Given the description of an element on the screen output the (x, y) to click on. 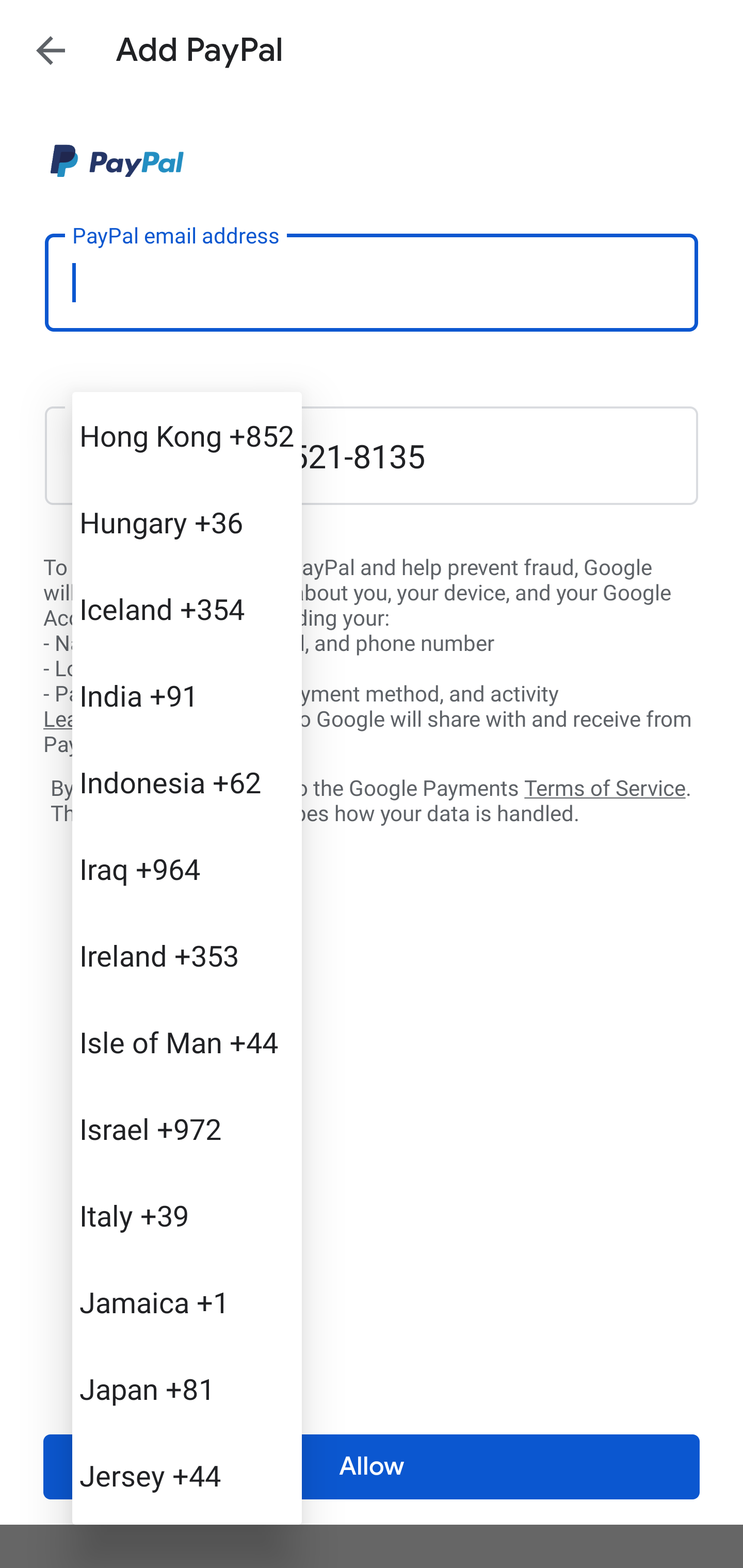
Hong Kong +852 (186, 435)
Hungary +36 (186, 522)
Iceland +354 (186, 609)
India +91 (186, 695)
Indonesia +62 (186, 781)
Iraq +964 (186, 868)
Ireland +353 (186, 955)
Isle of Man +44 (186, 1041)
Israel +972 (186, 1128)
Italy +39 (186, 1215)
Jamaica +1 (186, 1302)
Japan +81 (186, 1388)
Jersey +44 (186, 1474)
